Given the description of an element on the screen output the (x, y) to click on. 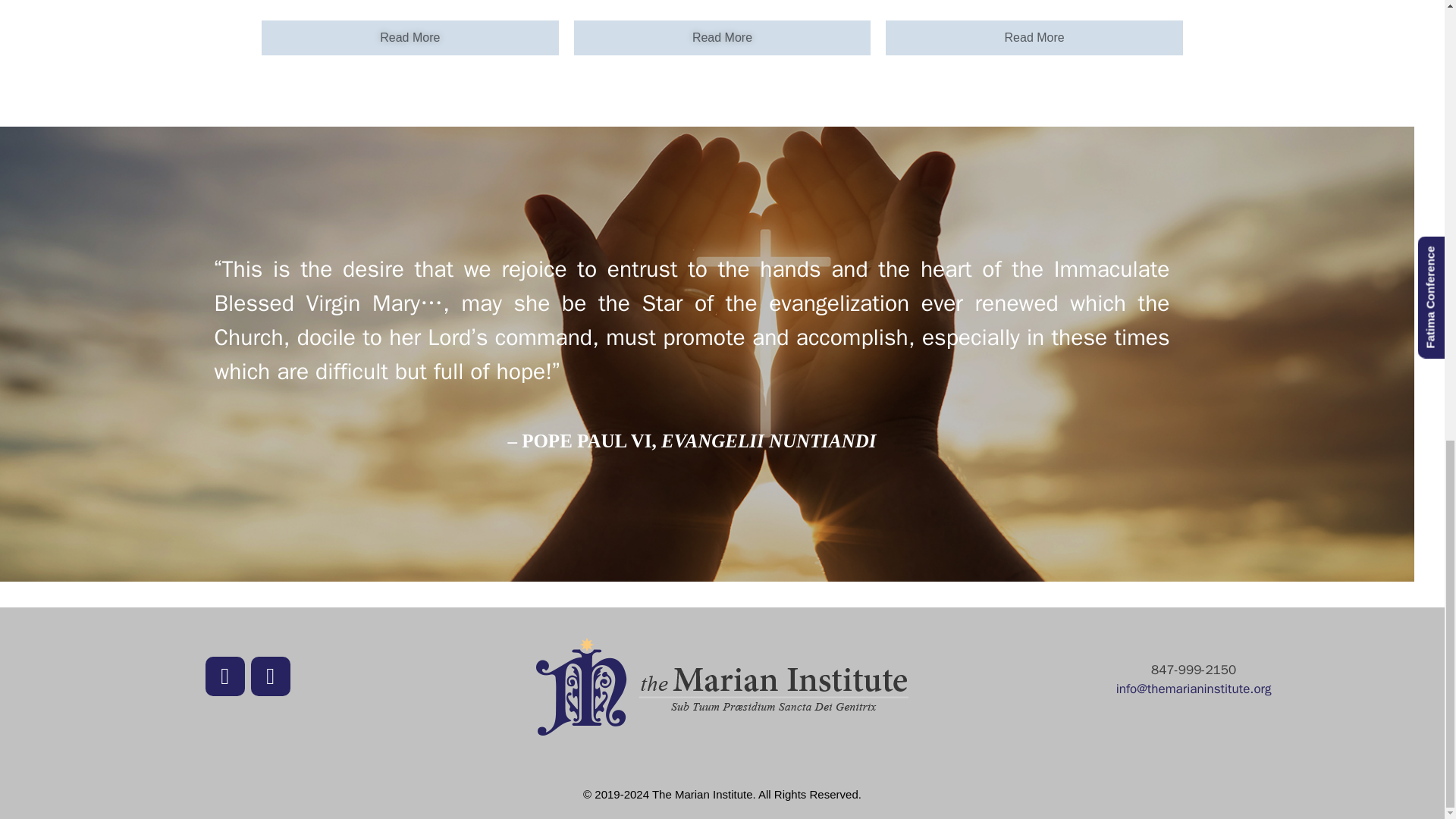
Read More (721, 37)
Read More (1033, 37)
Facebook (224, 676)
Read More (410, 37)
Instagram (269, 676)
Scroll back to top (1406, 581)
